Given the description of an element on the screen output the (x, y) to click on. 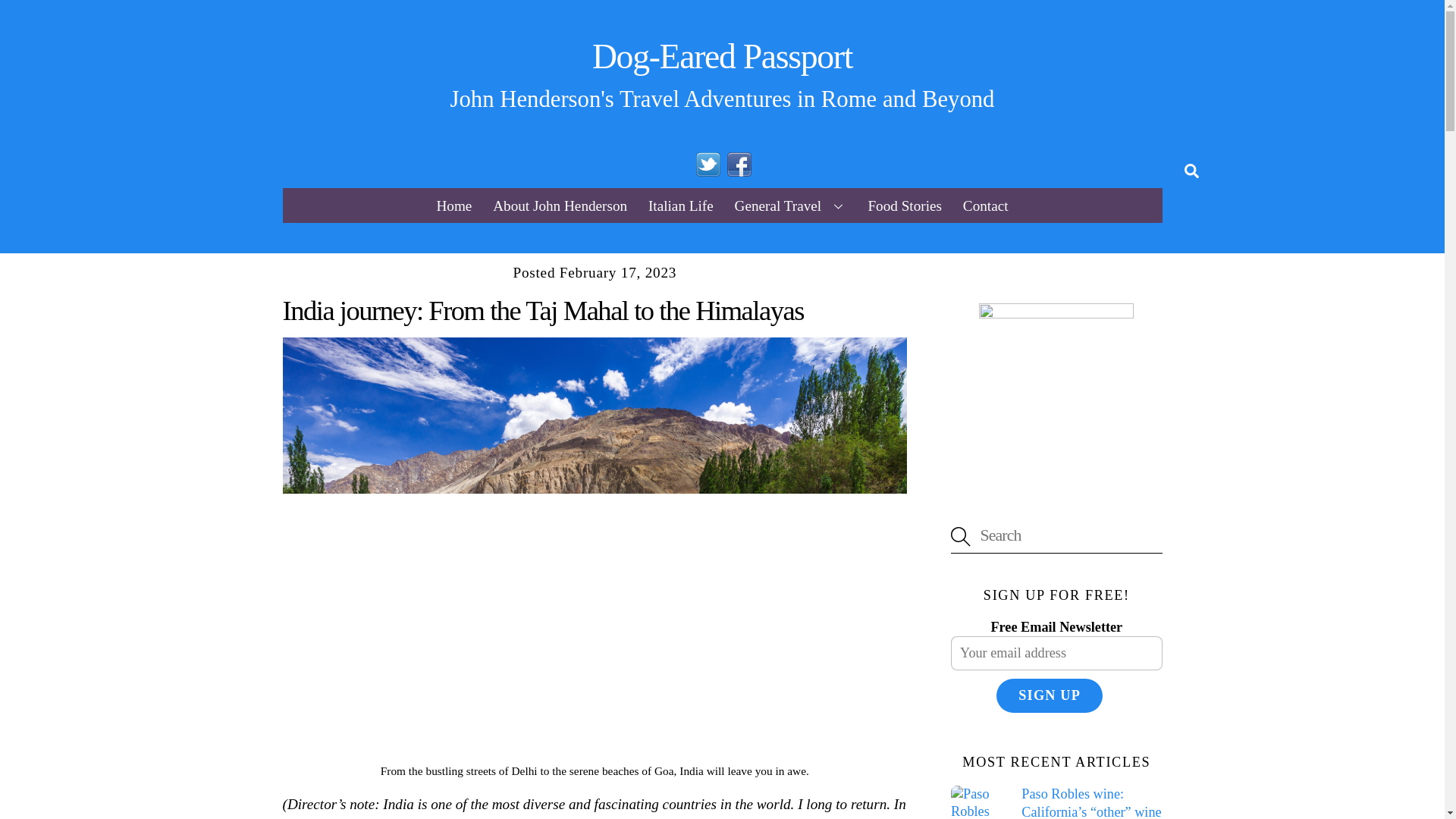
Dog-Eared Passport (721, 56)
Sign up (1048, 695)
Italian Life (680, 205)
Search (1191, 169)
Contact (984, 205)
General Travel (790, 205)
Dog-Eared Passport (721, 56)
Food Stories (904, 205)
Home (454, 205)
